Given the description of an element on the screen output the (x, y) to click on. 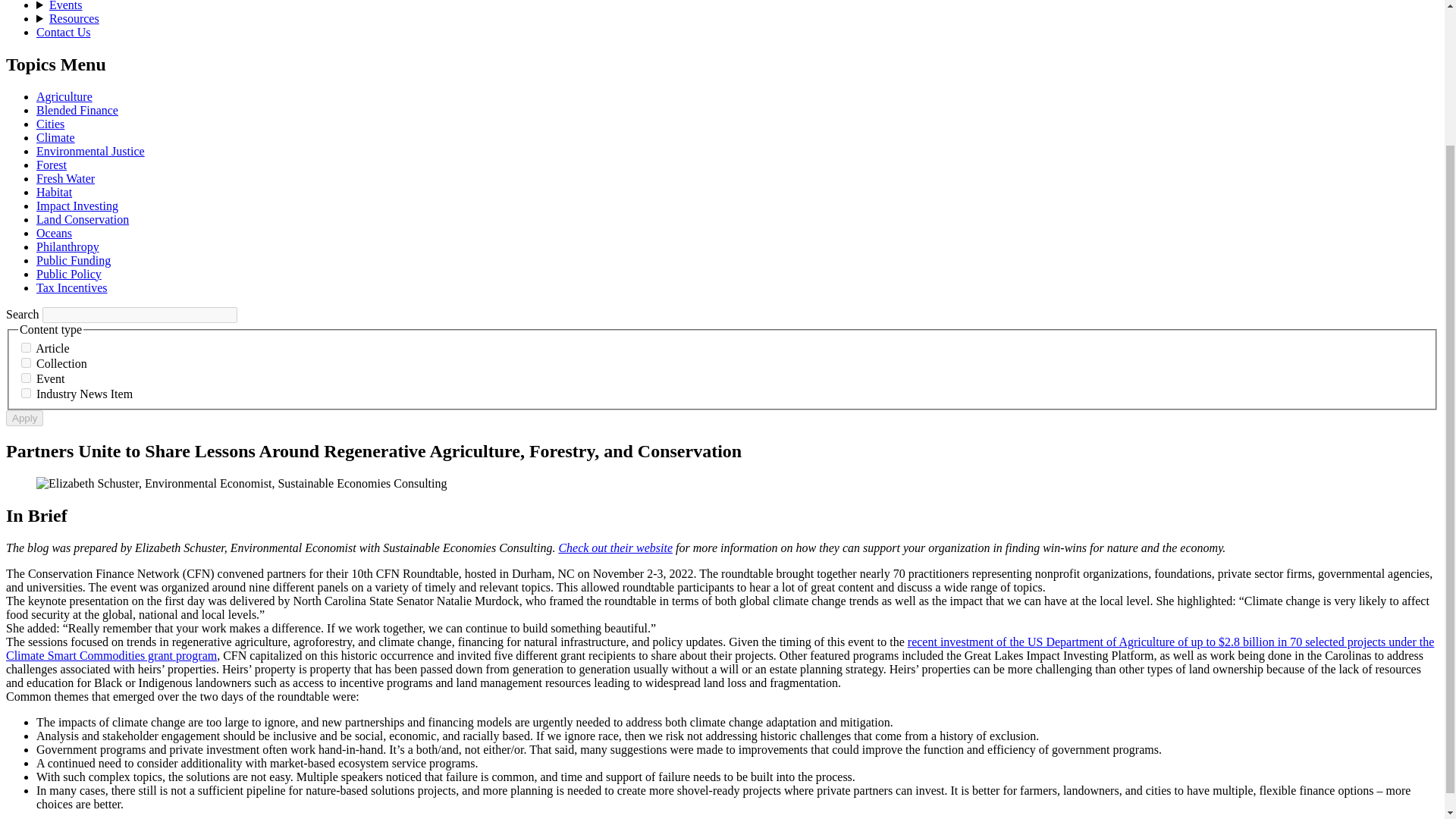
Philanthropy (67, 246)
Public Policy (68, 273)
Land Conservation (82, 219)
Habitat (53, 192)
Public Funding (73, 259)
Events (65, 5)
Fresh Water (65, 178)
Impact Investing (76, 205)
Environmental Justice (90, 151)
Cities (50, 123)
Oceans (53, 232)
Agriculture (64, 96)
Resources (74, 18)
Contact Us (63, 31)
collection (25, 362)
